Given the description of an element on the screen output the (x, y) to click on. 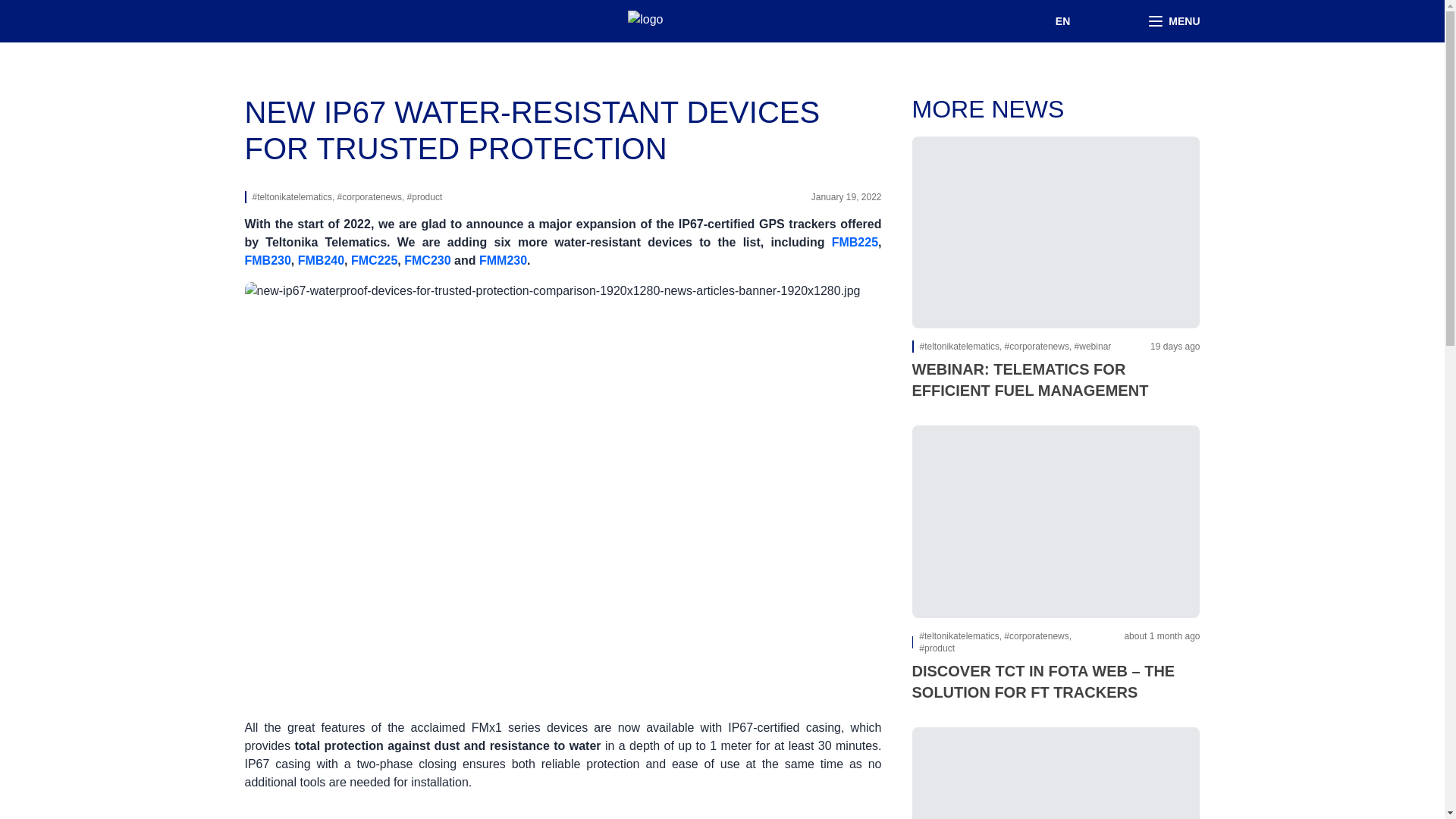
FMM230 (503, 259)
FMB230 (266, 259)
FMB240 (320, 259)
FMC230 (426, 259)
FMB225 (854, 241)
FMC225 (373, 259)
